Given the description of an element on the screen output the (x, y) to click on. 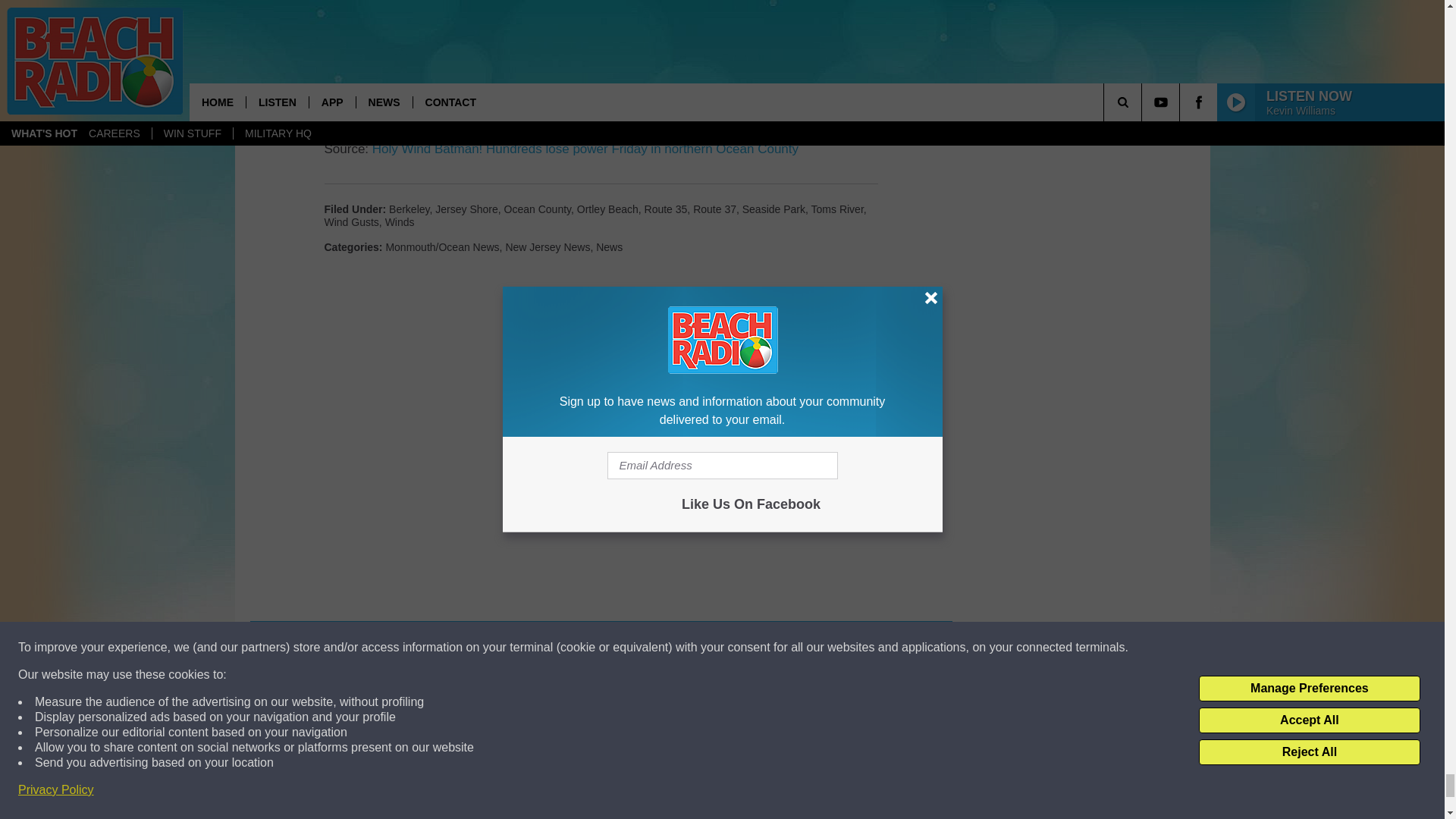
Email Address (600, 90)
